Given the description of an element on the screen output the (x, y) to click on. 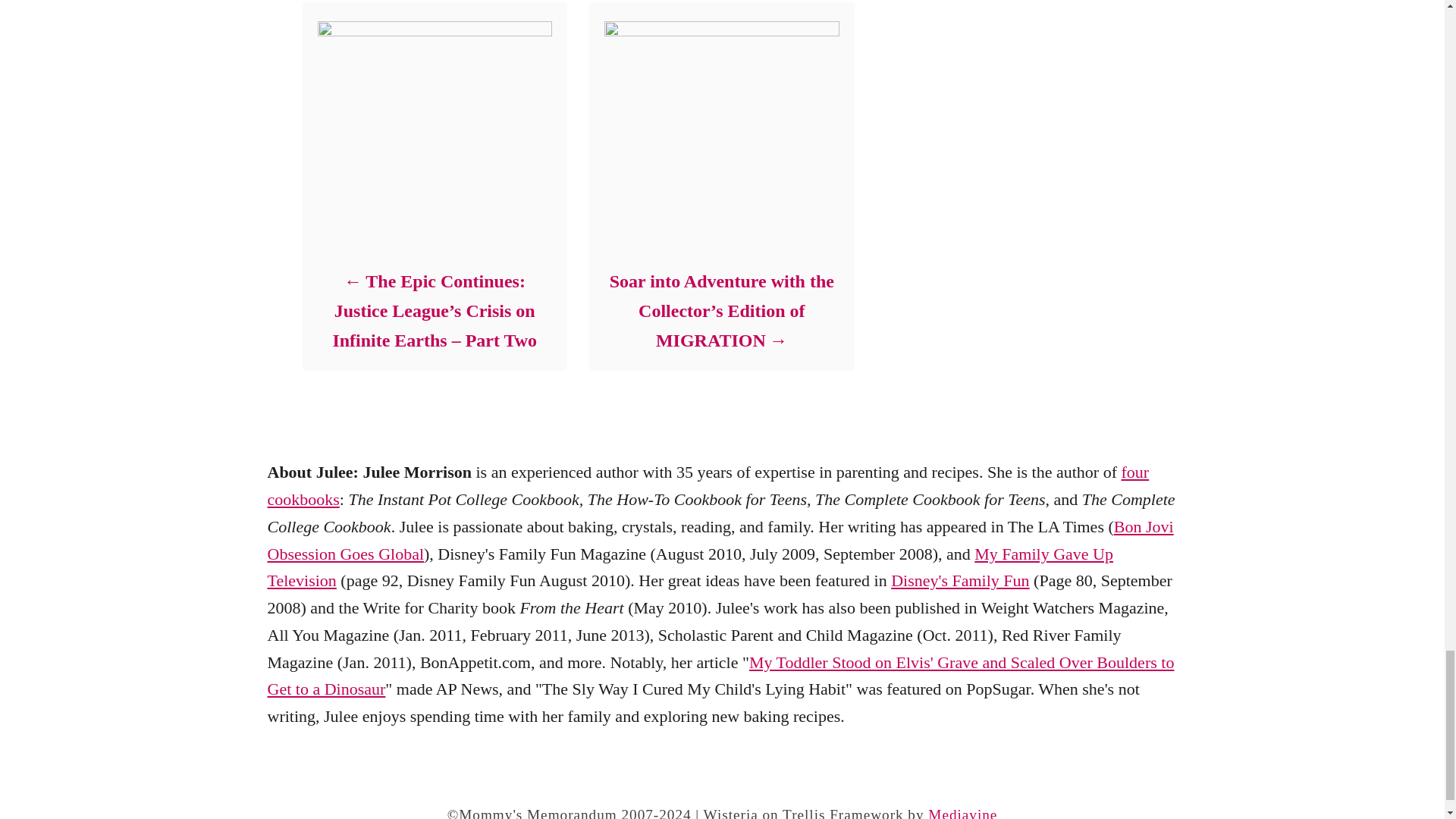
Disney's Family Fun (960, 579)
My Family Gave Up Television (689, 567)
Bon Jovi Obsession Goes Global (719, 539)
four cookbooks (707, 485)
